Given the description of an element on the screen output the (x, y) to click on. 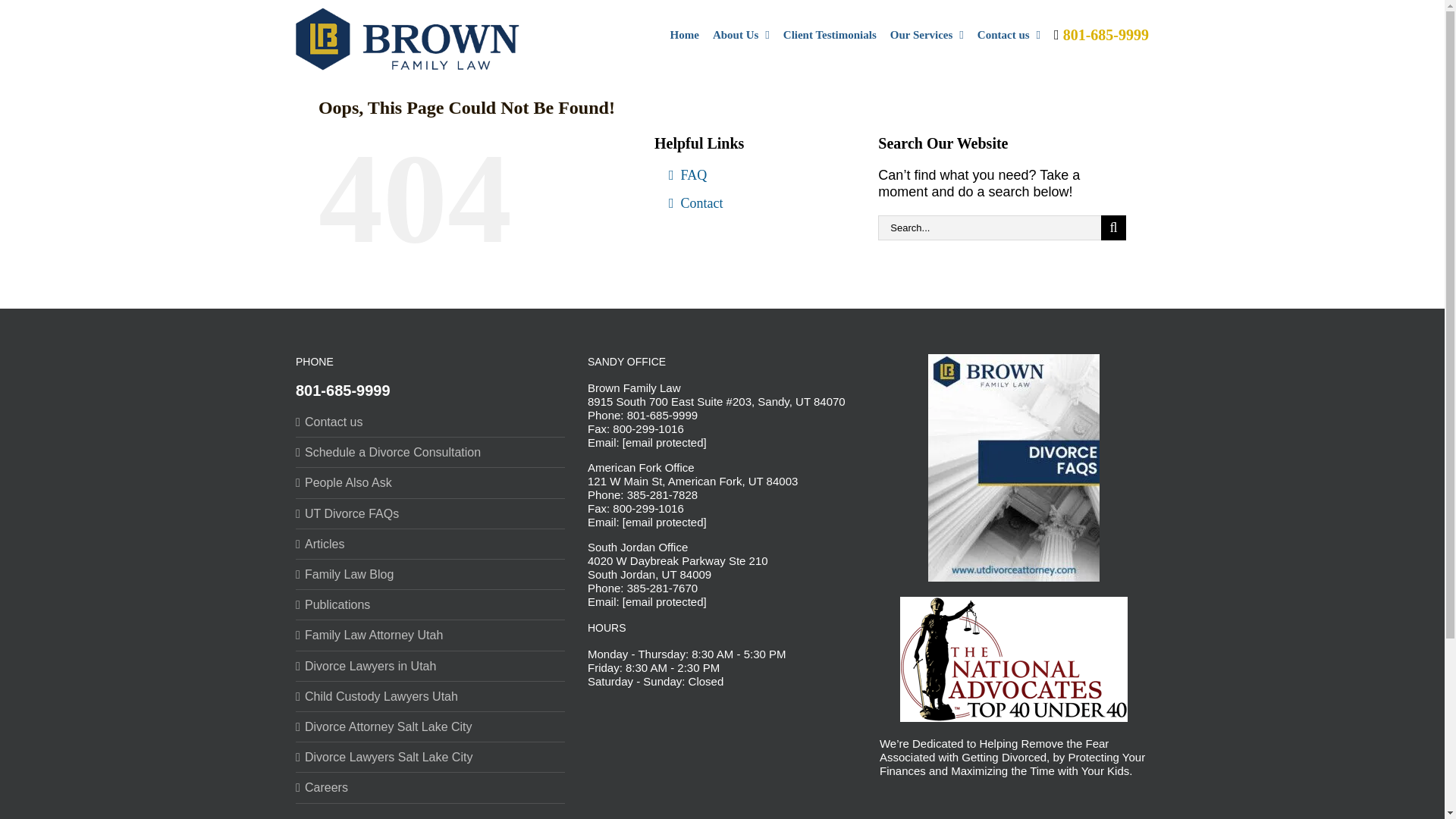
Publications (430, 604)
Schedule a Divorce Consultation (430, 452)
801-685-9999 (342, 390)
Contact us (1008, 33)
Divorce Lawyers Salt Lake City (430, 757)
Contact (753, 209)
Divorce Lawyers in Utah (430, 666)
UT Divorce FAQs (430, 513)
Divorce Attorney Salt Lake City (430, 726)
People Also Ask (430, 482)
